Given the description of an element on the screen output the (x, y) to click on. 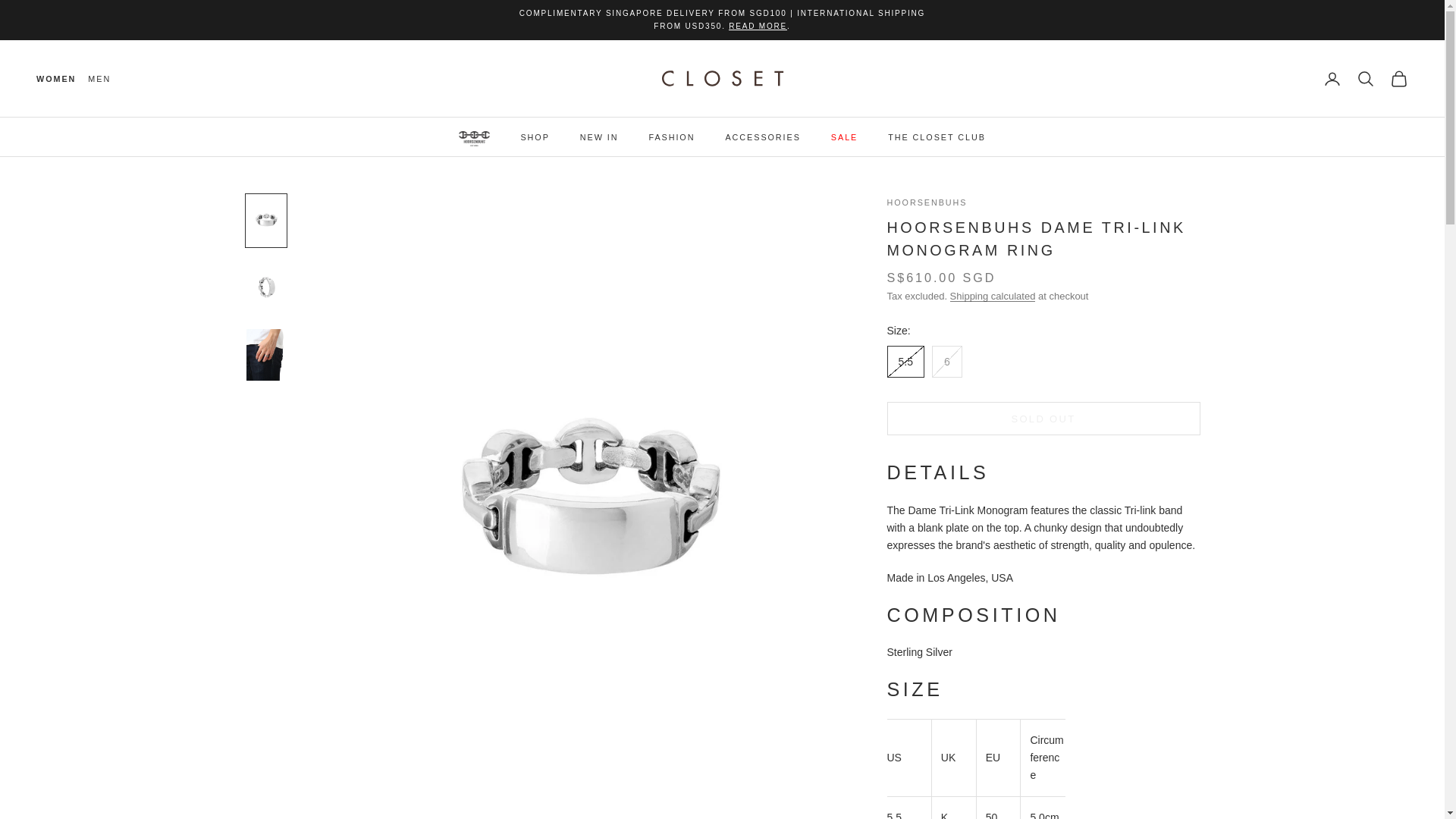
CLOSET Singapore (722, 78)
READ MORE (758, 25)
WOMEN (55, 78)
MEN (98, 78)
Shipping and Delivery (758, 25)
